Given the description of an element on the screen output the (x, y) to click on. 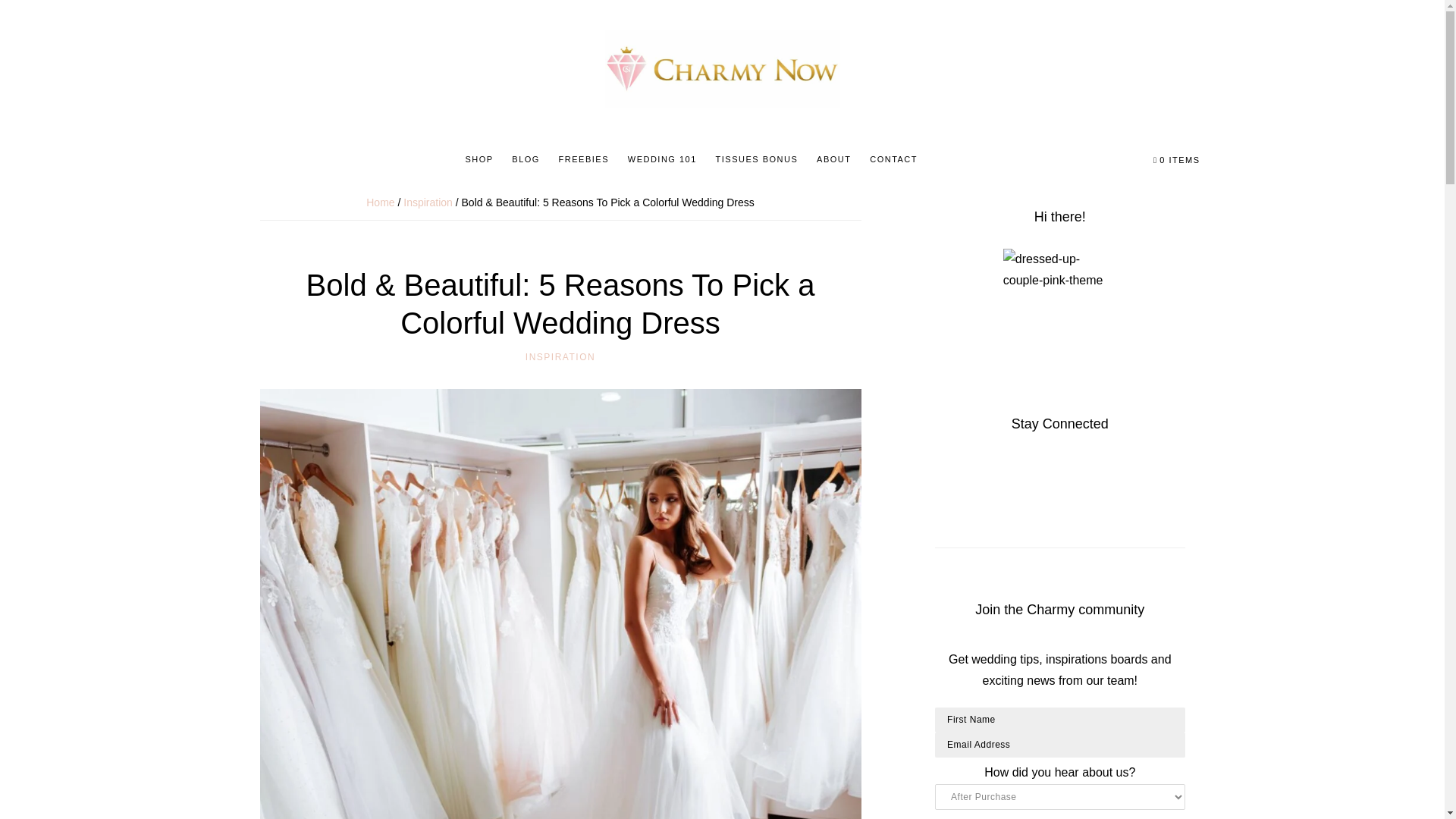
WEDDING 101 (662, 159)
INSPIRATION (560, 357)
Home (380, 202)
Start shopping (1176, 160)
0 ITEMS (1176, 160)
CONTACT (892, 159)
Inspiration (427, 202)
BLOG (525, 159)
SHOP (478, 159)
